Given the description of an element on the screen output the (x, y) to click on. 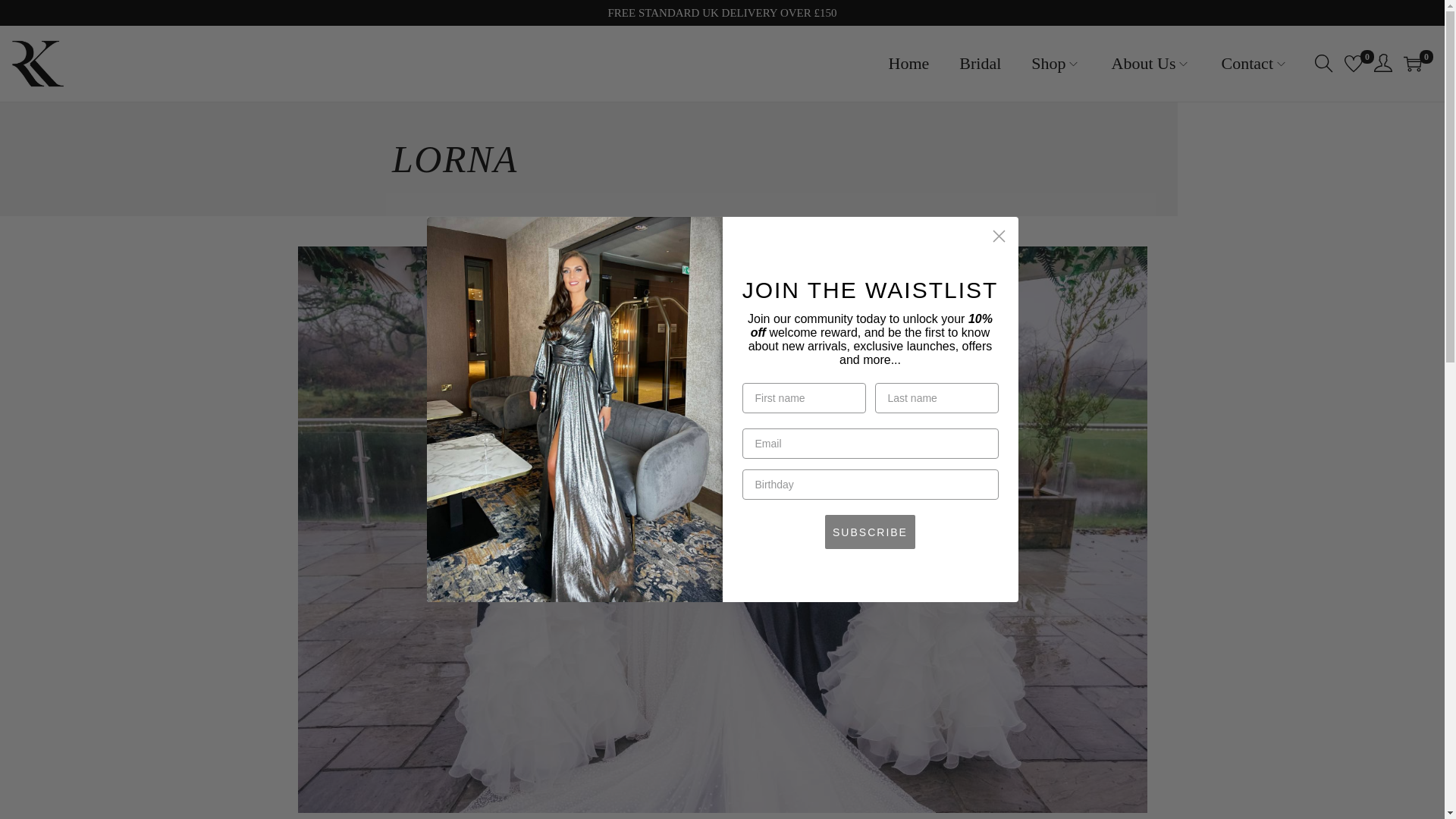
0 (1352, 63)
About Us (1151, 63)
Close dialog 1 (998, 235)
0 (1412, 63)
